Given the description of an element on the screen output the (x, y) to click on. 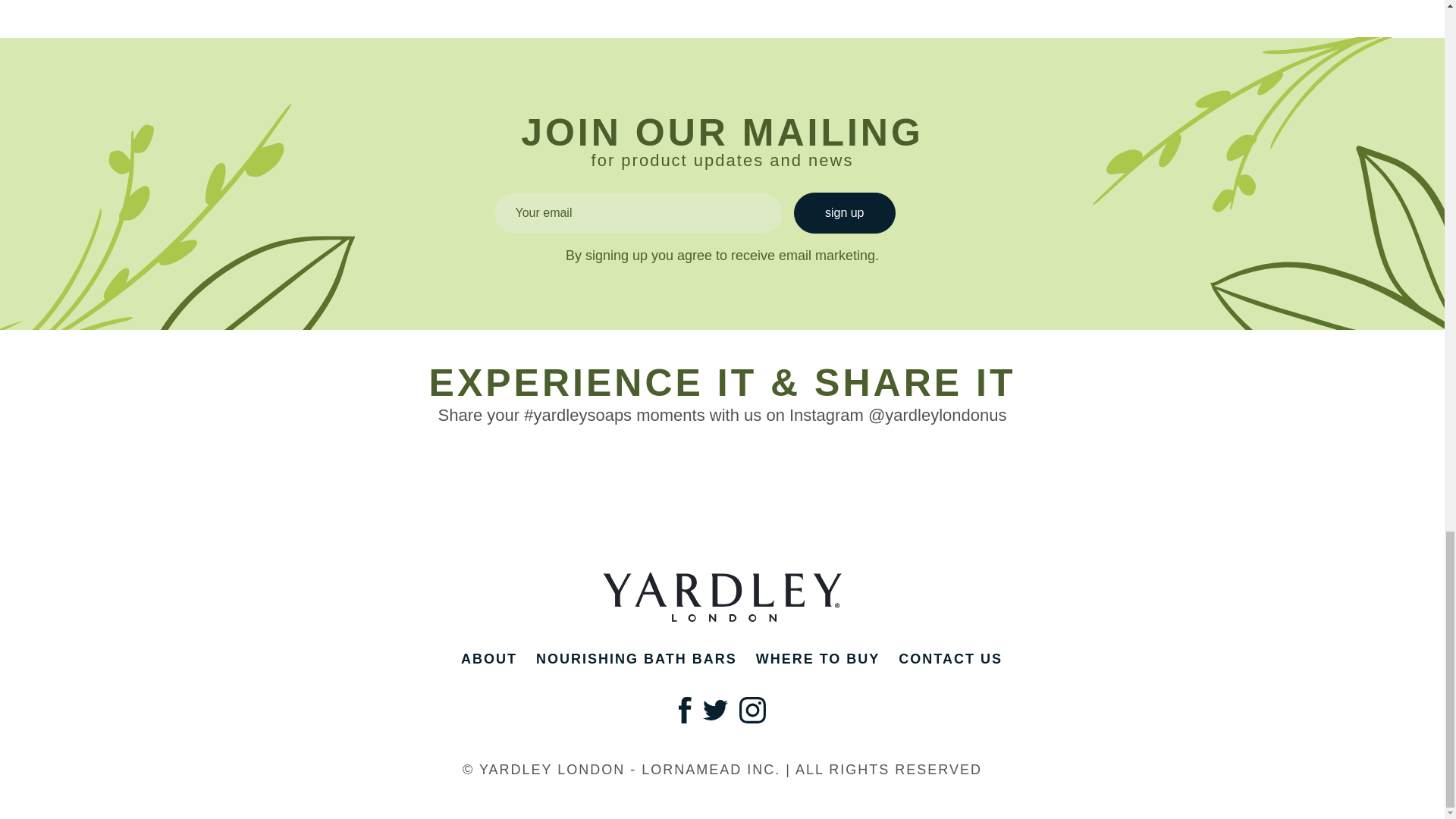
NOURISHING BATH BARS (635, 658)
ABOUT (488, 658)
CONTACT US (950, 658)
sign up (844, 212)
WHERE TO BUY (817, 658)
sign up (844, 212)
